Given the description of an element on the screen output the (x, y) to click on. 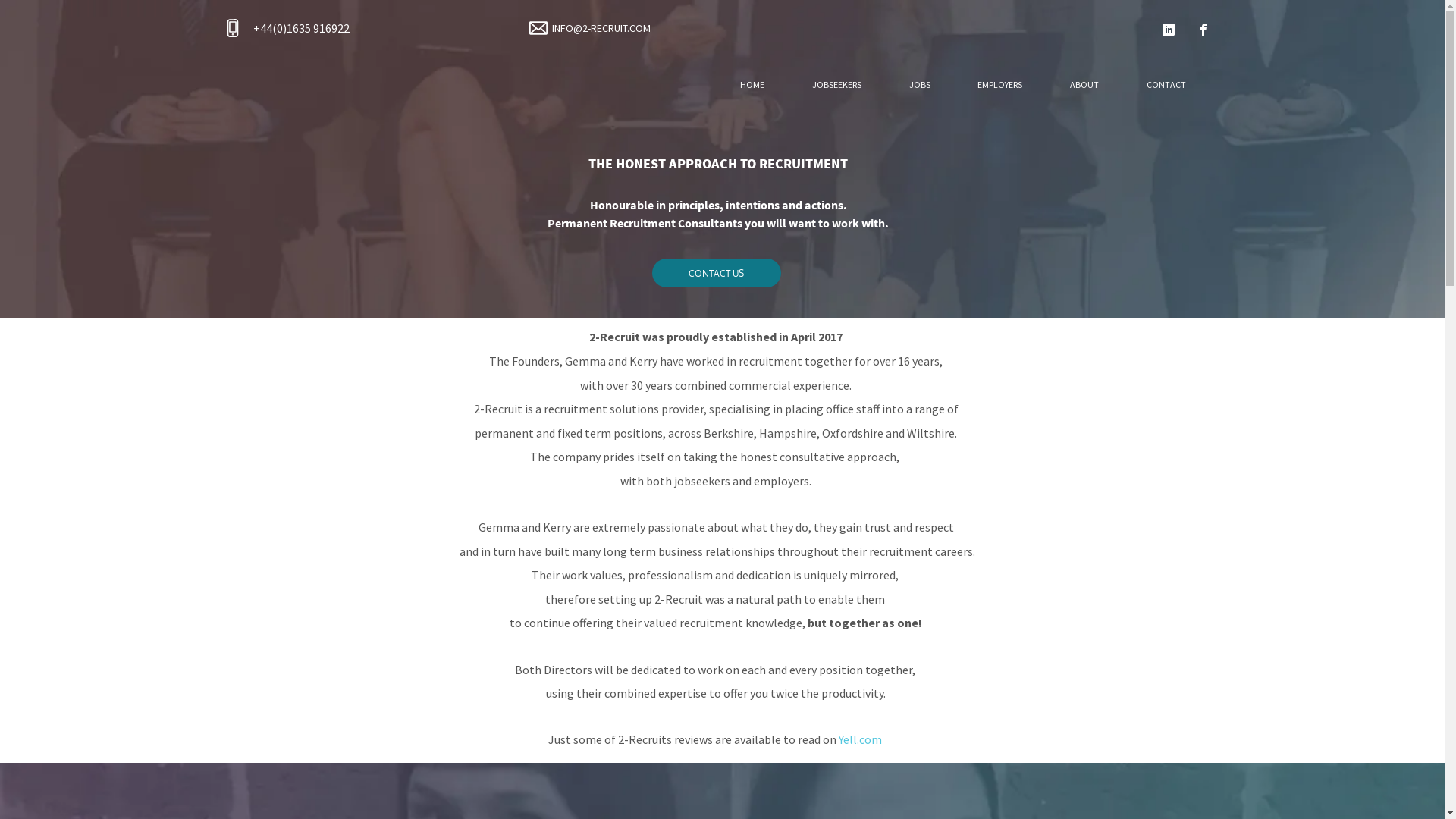
CONTACT Element type: text (1166, 84)
INFO@2-RECRUIT.COM Element type: text (601, 27)
ABOUT Element type: text (1084, 84)
EMPLOYERS Element type: text (999, 84)
CONTACT US Element type: text (716, 272)
JOBS Element type: text (918, 84)
JOBSEEKERS Element type: text (835, 84)
HOME Element type: text (751, 84)
